Given the description of an element on the screen output the (x, y) to click on. 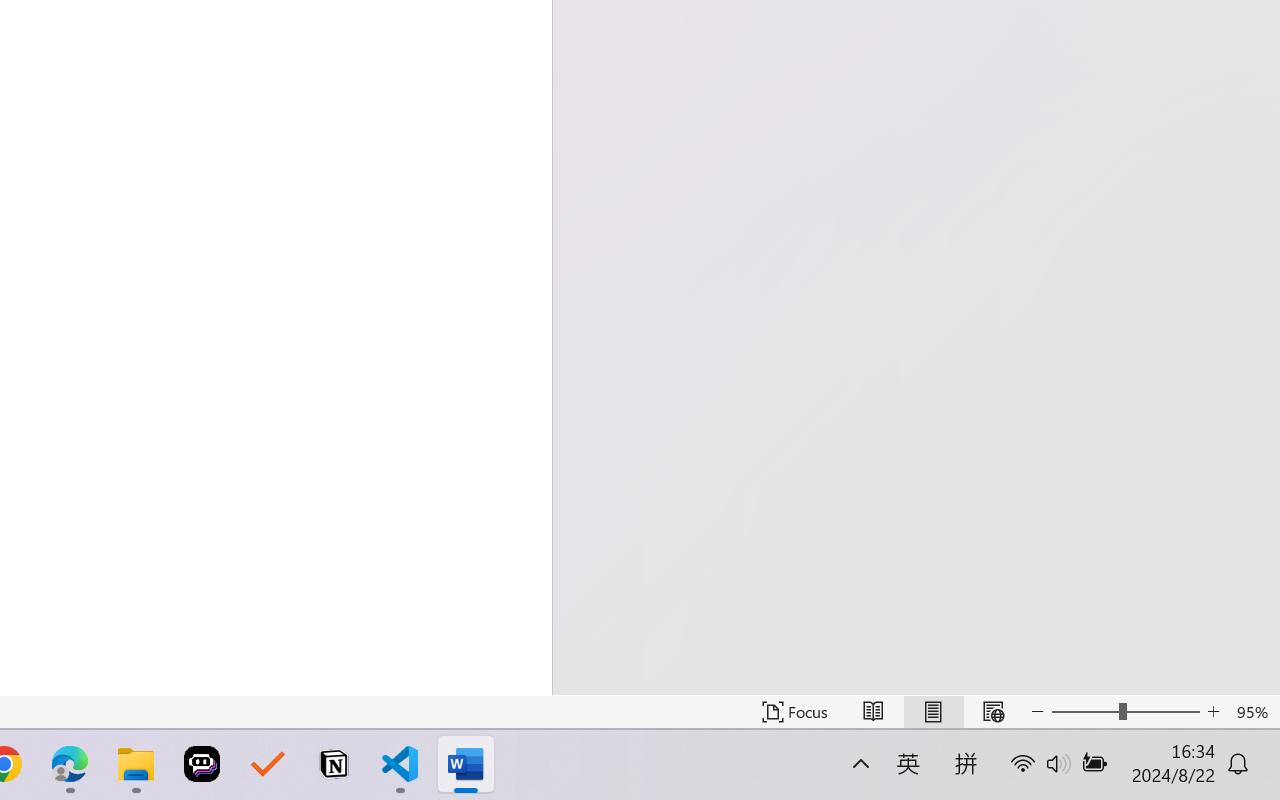
Zoom 95% (1253, 712)
Notion (333, 764)
Poe (201, 764)
